Given the description of an element on the screen output the (x, y) to click on. 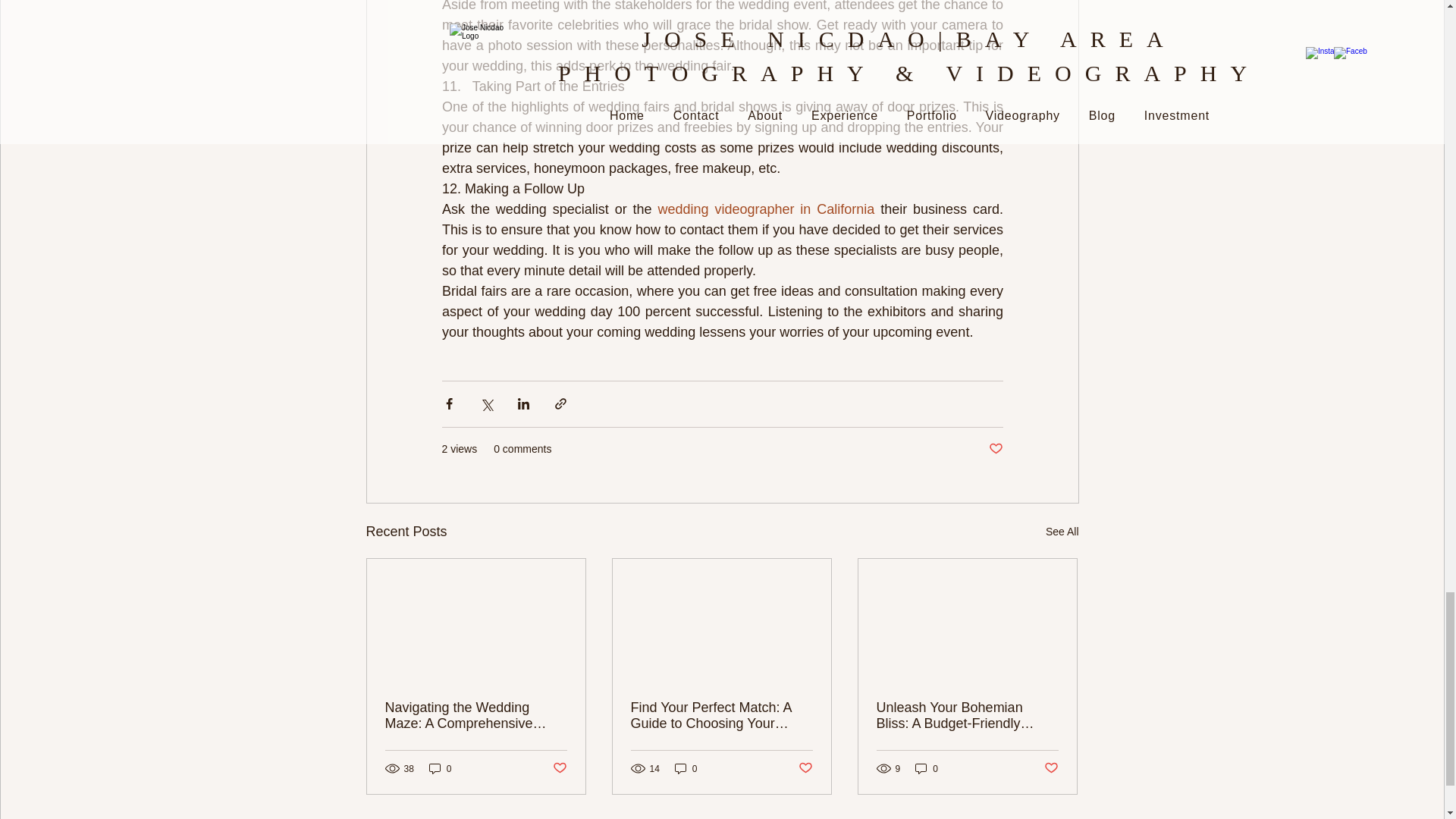
Post not marked as liked (1050, 768)
Post not marked as liked (804, 768)
Post not marked as liked (558, 768)
0 (685, 768)
0 (926, 768)
See All (1061, 531)
0 (440, 768)
Post not marked as liked (995, 449)
